Given the description of an element on the screen output the (x, y) to click on. 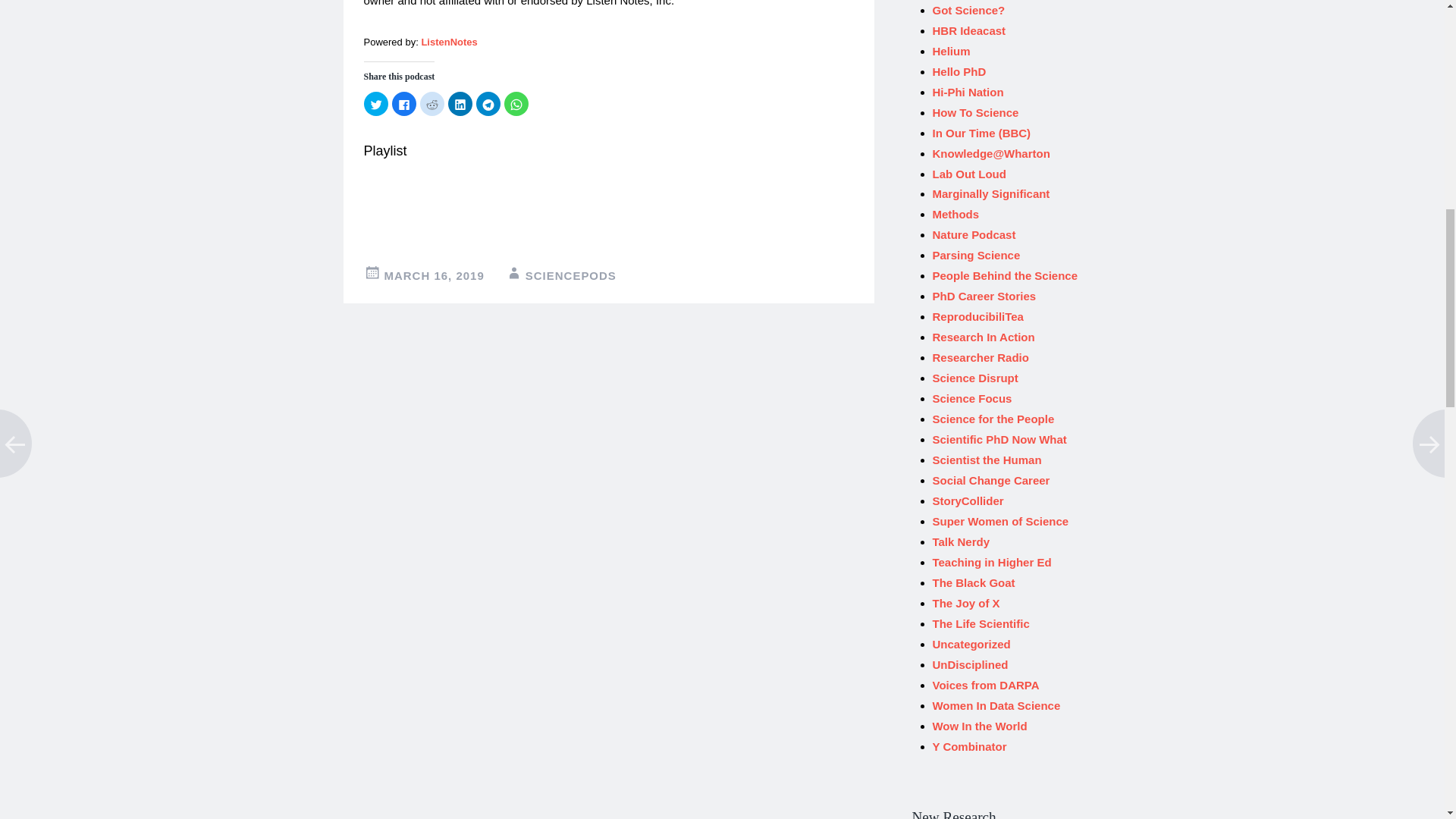
Click to share on LinkedIn (458, 103)
Click to share on Facebook (402, 103)
Click to share on Reddit (432, 103)
Click to share on Twitter (376, 103)
